Given the description of an element on the screen output the (x, y) to click on. 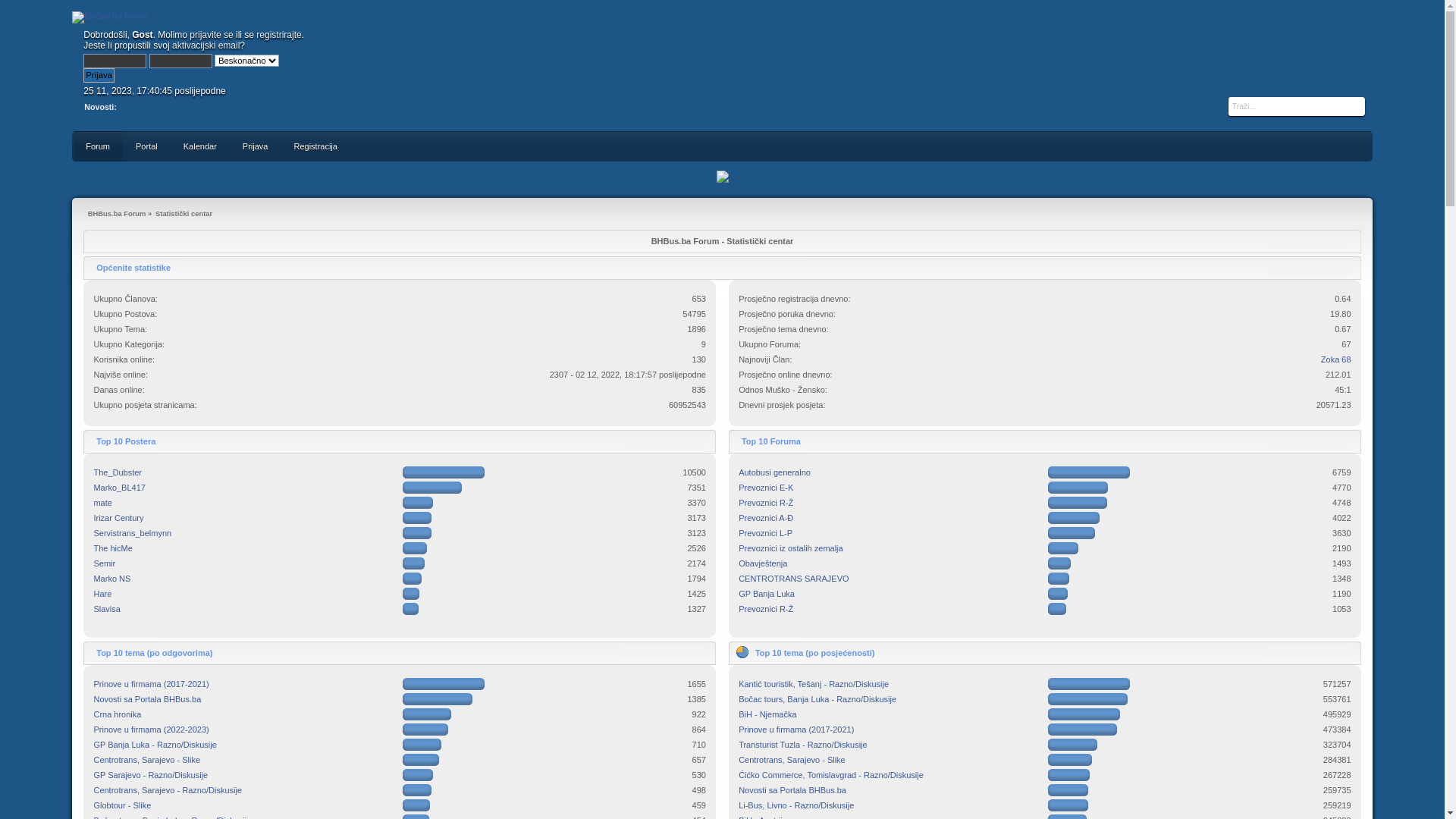
GP Banja Luka Element type: text (766, 593)
GP Sarajevo - Razno/Diskusije Element type: text (150, 774)
Novosti sa Portala BHBus.ba Element type: text (146, 698)
BHBus.ba Forum Element type: hover (109, 17)
mate Element type: text (102, 502)
prijavite se Element type: text (210, 34)
Forum Element type: text (97, 146)
Irizar Century Element type: text (118, 517)
aktivacijski email Element type: text (205, 45)
Portal Element type: text (146, 146)
Autobusi generalno Element type: text (774, 471)
Novosti sa Portala BHBus.ba Element type: text (792, 789)
Prinove u firmama (2017-2021) Element type: text (150, 683)
Semir Element type: text (104, 562)
Servistrans_belmynn Element type: text (132, 532)
Centrotrans, Sarajevo - Slike Element type: text (146, 759)
Prijava Element type: text (255, 146)
Centrotrans, Sarajevo - Razno/Diskusije Element type: text (167, 789)
The hicMe Element type: text (112, 547)
Prinove u firmama (2022-2023) Element type: text (150, 729)
Marko NS Element type: text (111, 578)
Kalendar Element type: text (200, 146)
Prevoznici iz ostalih zemalja Element type: text (790, 547)
BHBus.ba Forum Element type: text (116, 213)
Prevoznici E-K Element type: text (765, 487)
registrirajte Element type: text (278, 34)
Li-Bus, Livno - Razno/Diskusije Element type: text (795, 804)
Prijava Element type: text (98, 75)
Hare Element type: text (102, 593)
Registracija Element type: text (314, 146)
GP Banja Luka - Razno/Diskusije Element type: text (154, 744)
The_Dubster Element type: text (117, 471)
Marko_BL417 Element type: text (119, 487)
CENTROTRANS SARAJEVO Element type: text (793, 578)
Crna hronika Element type: text (117, 713)
Prinove u firmama (2017-2021) Element type: text (795, 729)
Slavisa Element type: text (106, 608)
Centrotrans, Sarajevo - Slike Element type: text (791, 759)
Globtour - Slike Element type: text (121, 804)
Transturist Tuzla - Razno/Diskusije Element type: text (802, 744)
Prevoznici L-P Element type: text (765, 532)
Zoka 68 Element type: text (1336, 359)
